Given the description of an element on the screen output the (x, y) to click on. 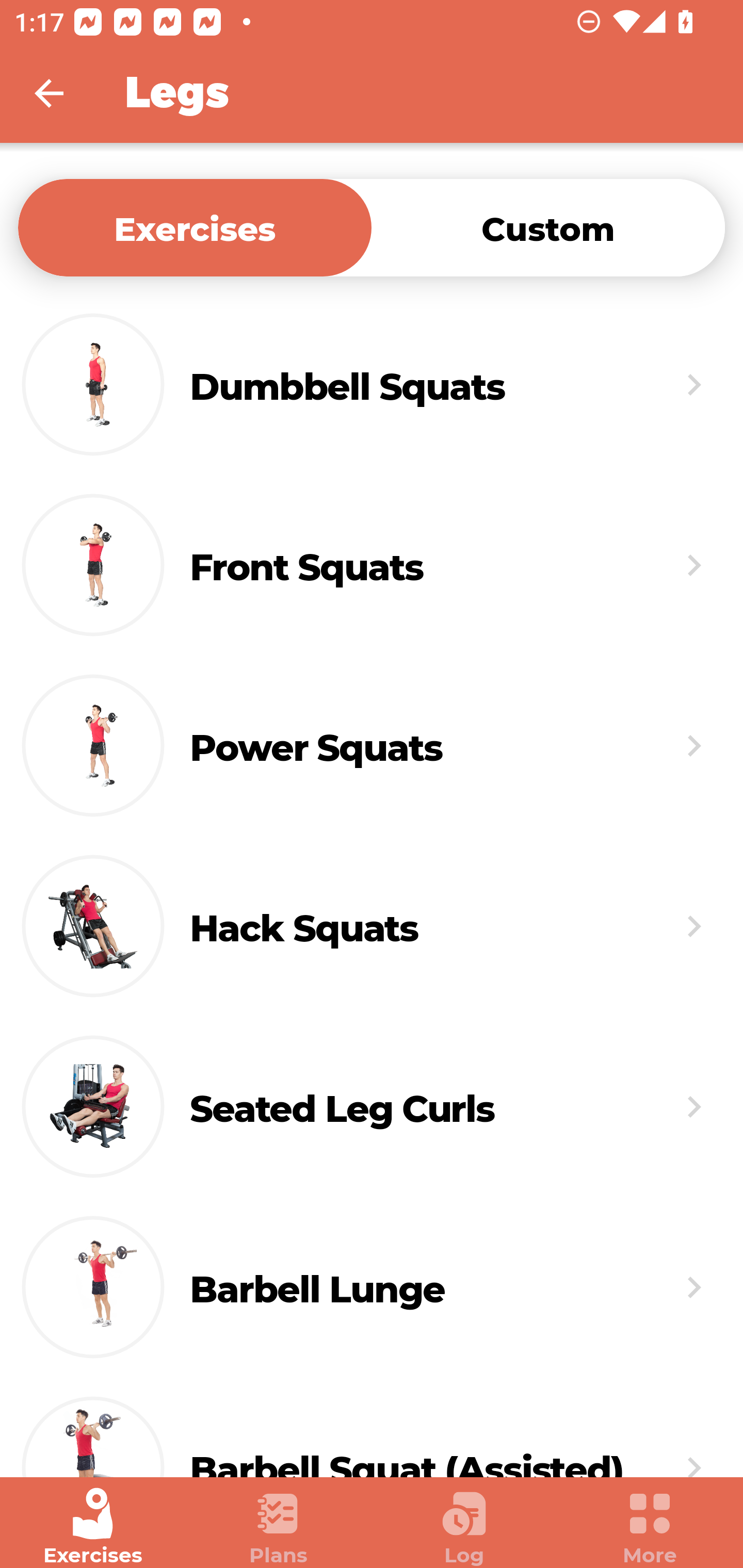
Back (62, 92)
Exercises (194, 226)
Custom (548, 226)
Exercises (92, 1527)
Plans (278, 1527)
Log (464, 1527)
More (650, 1527)
